Given the description of an element on the screen output the (x, y) to click on. 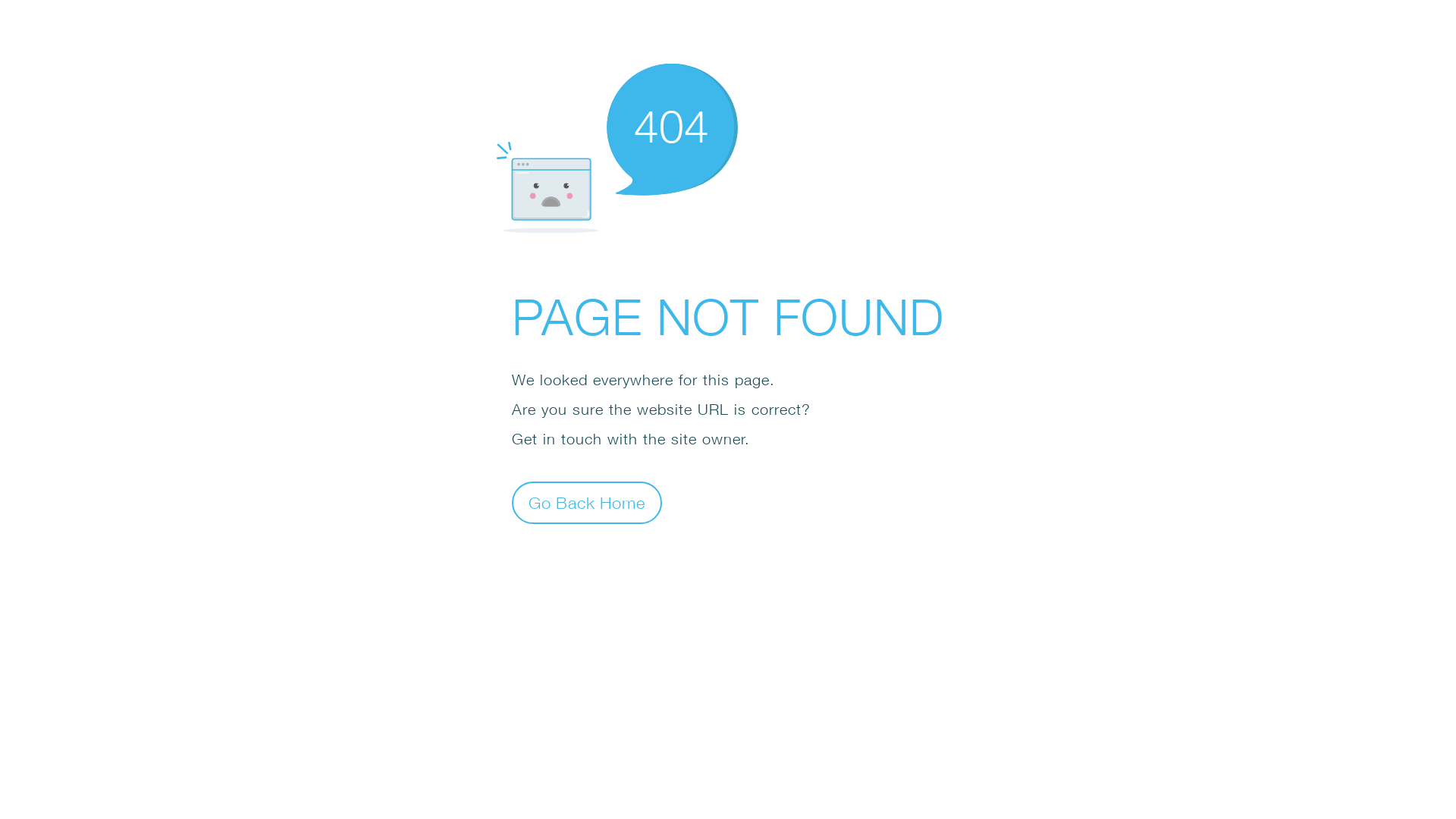
Go Back Home Element type: text (586, 502)
